Given the description of an element on the screen output the (x, y) to click on. 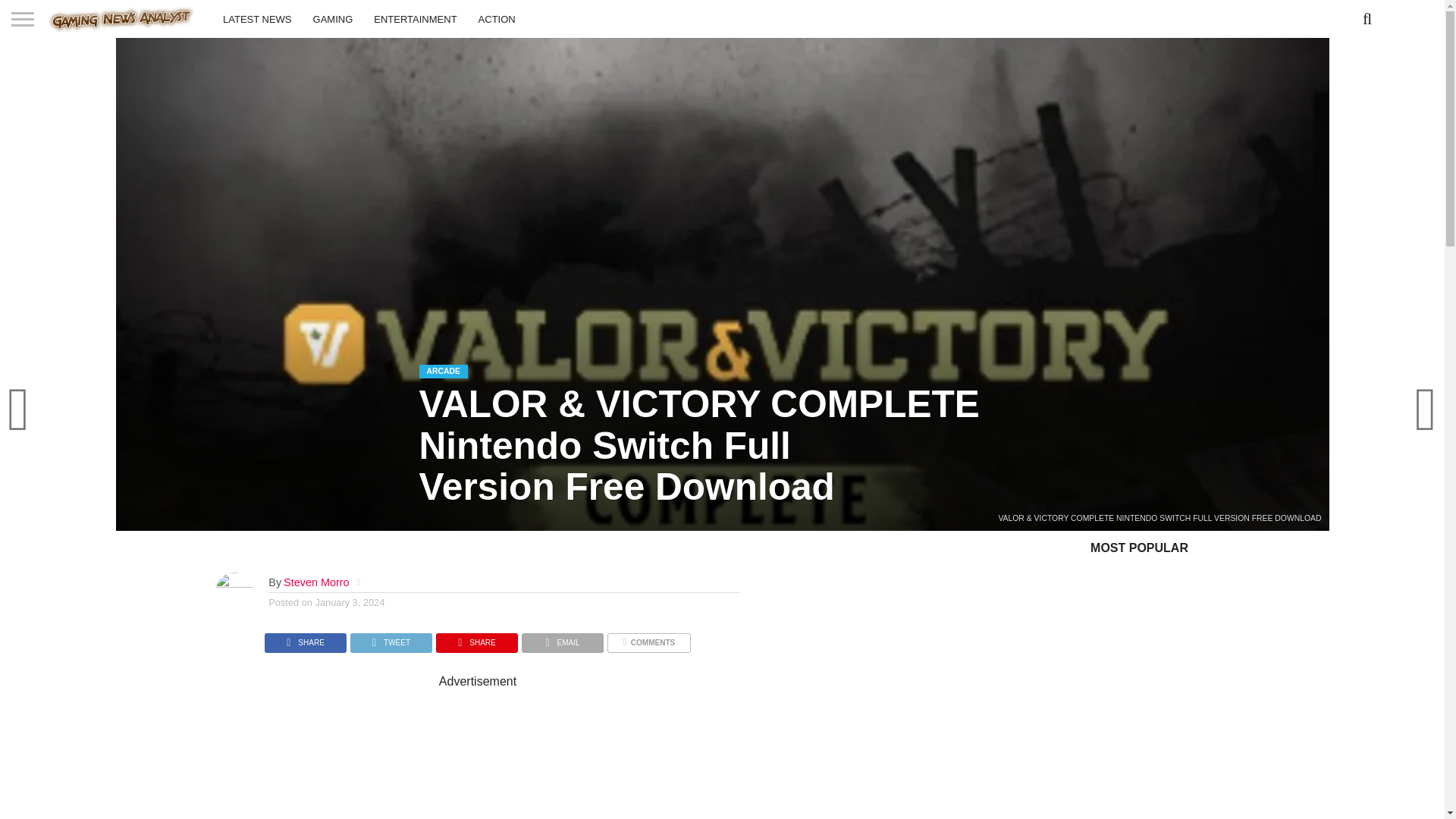
Steven Morro (316, 582)
ACTION (496, 18)
Posts by Steven Morro (316, 582)
EMAIL (562, 638)
ENTERTAINMENT (414, 18)
Share on Facebook (305, 638)
SHARE (305, 638)
Pin This Post (476, 638)
LATEST NEWS (257, 18)
Advertisement (602, 753)
Tweet This Post (390, 638)
ARCADE (443, 369)
SHARE (476, 638)
COMMENTS (648, 638)
GAMING (333, 18)
